Given the description of an element on the screen output the (x, y) to click on. 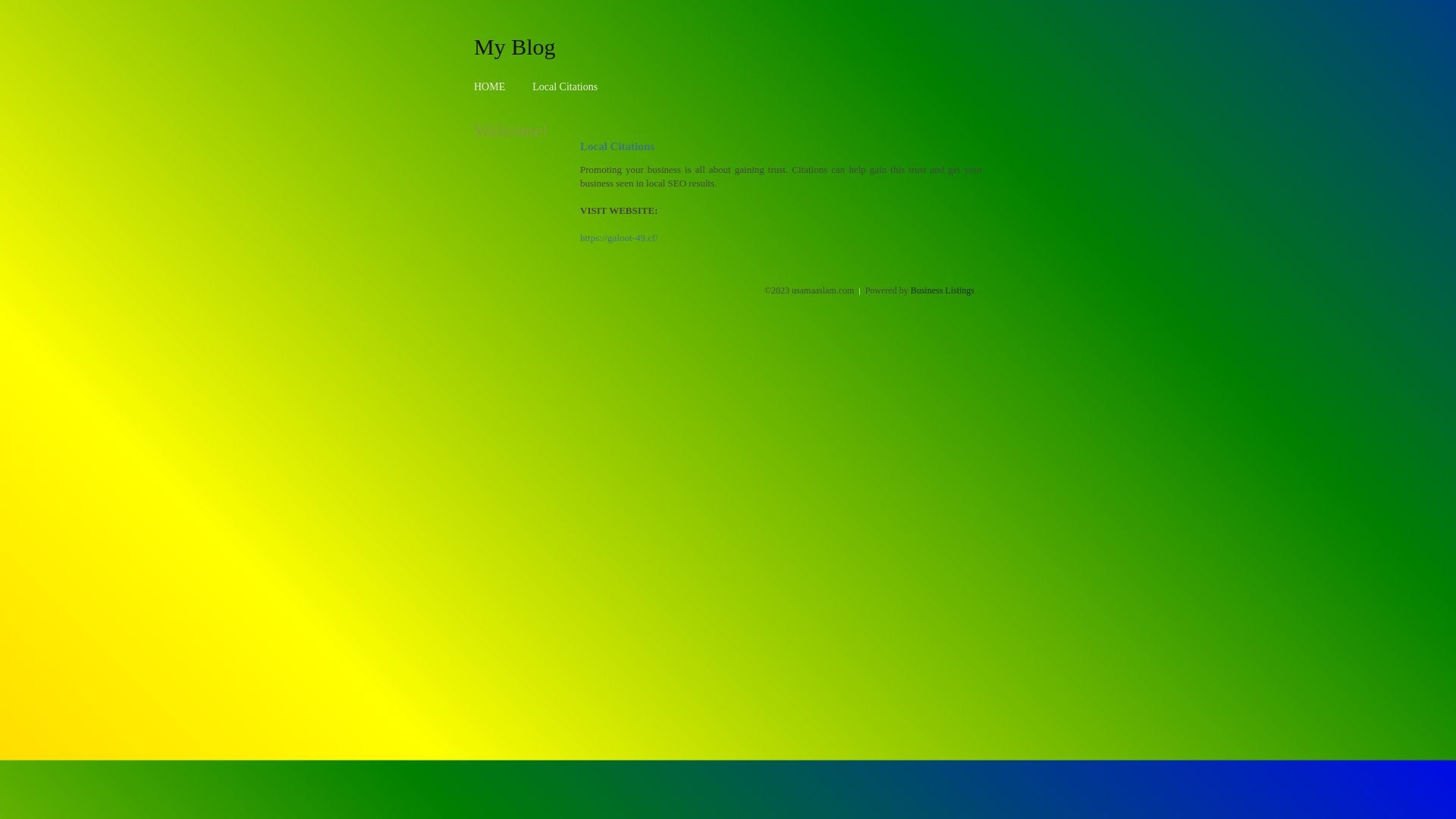
Business Listings Element type: text (942, 290)
Local Citations Element type: text (564, 86)
My Blog Element type: text (514, 46)
HOME Element type: text (489, 86)
https://galoot-49.cf/ Element type: text (619, 237)
